Given the description of an element on the screen output the (x, y) to click on. 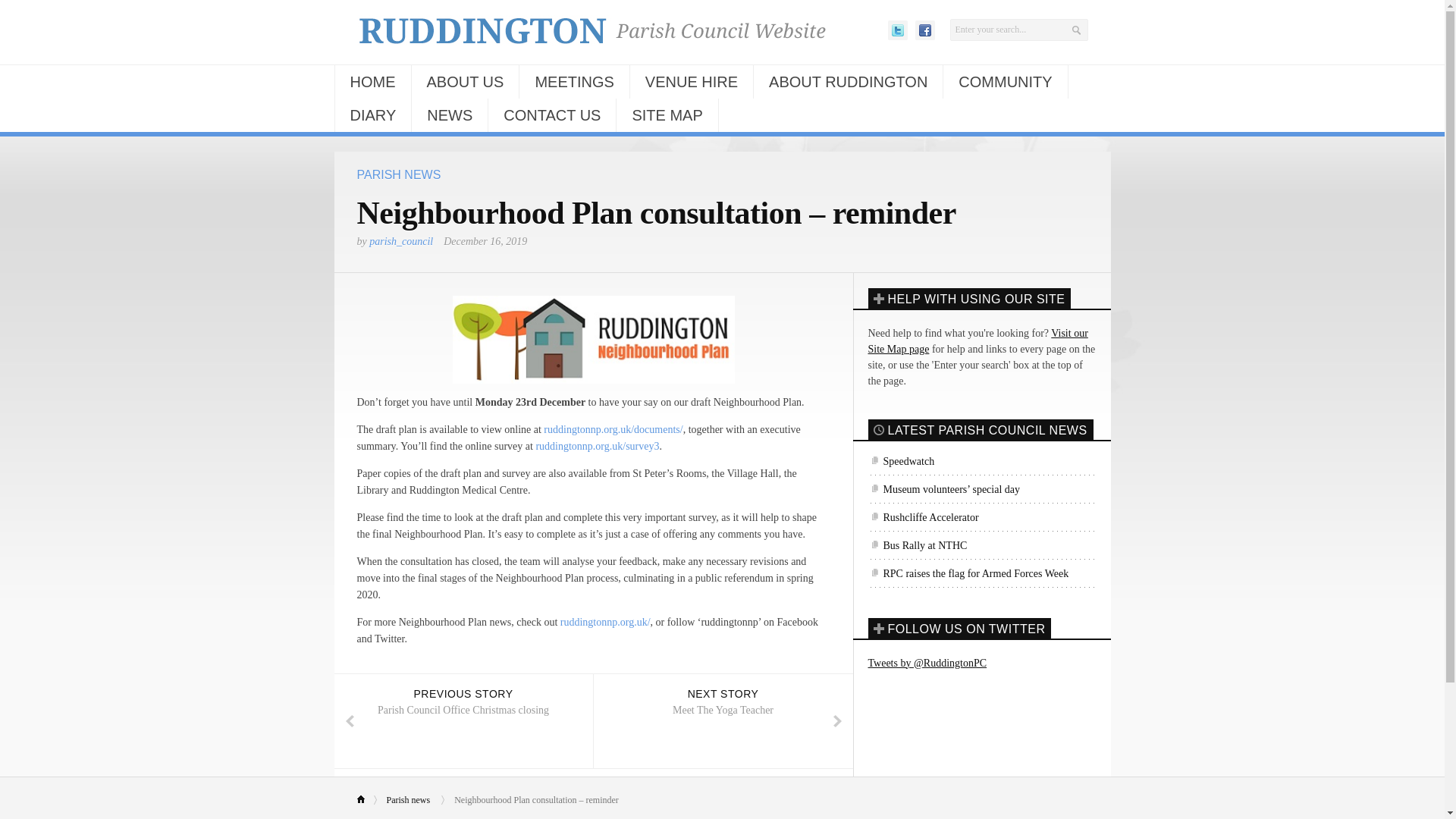
MEETINGS (573, 81)
HOME (372, 81)
Site map (977, 340)
VENUE HIRE (691, 81)
Enter your search... (1018, 29)
ABOUT US (464, 81)
search (1018, 29)
